Given the description of an element on the screen output the (x, y) to click on. 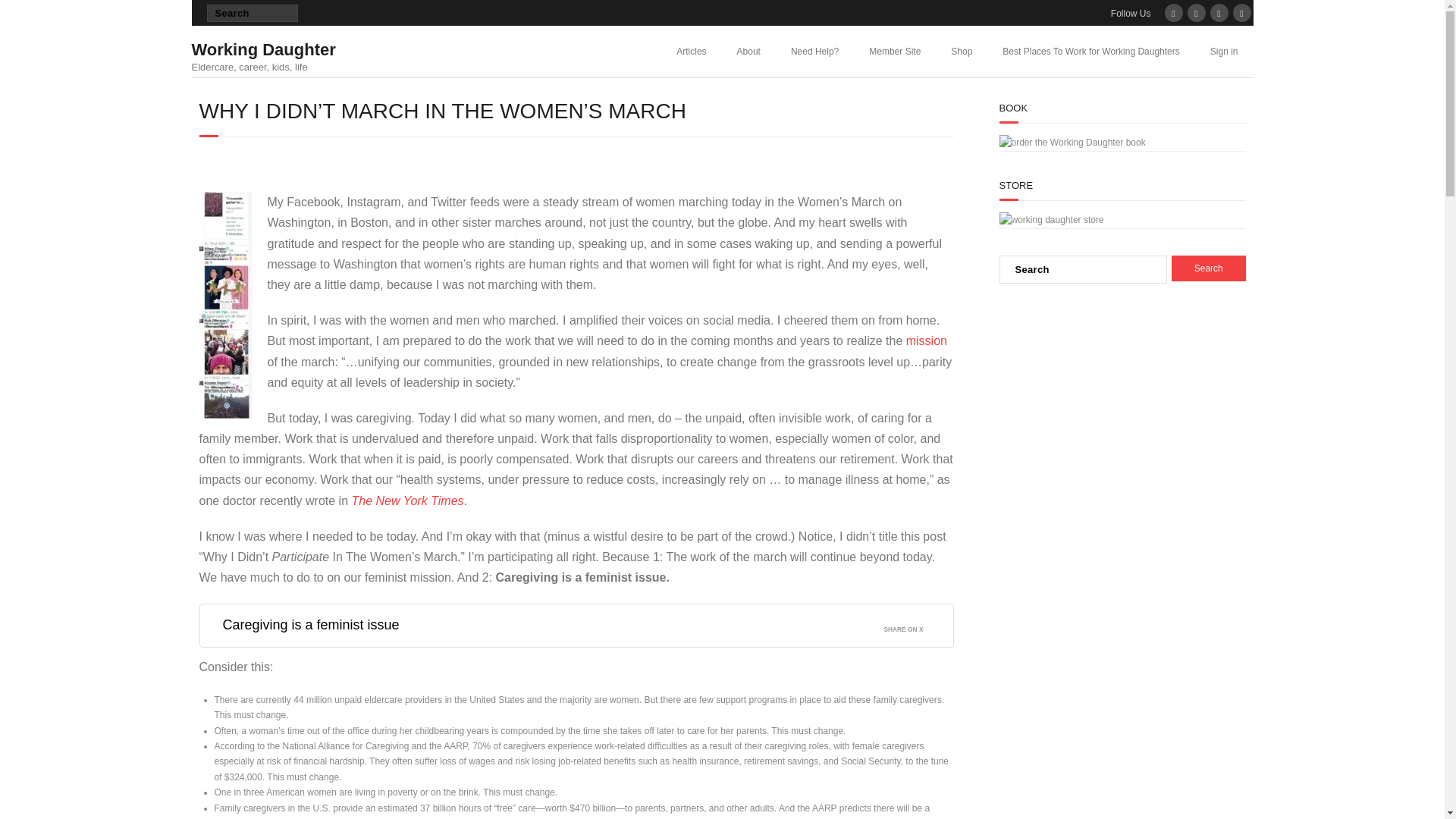
Working Daughter (262, 49)
Need Help? (262, 52)
Search (814, 50)
Search (25, 13)
Search (1209, 268)
About (1209, 268)
Articles (749, 50)
